Given the description of an element on the screen output the (x, y) to click on. 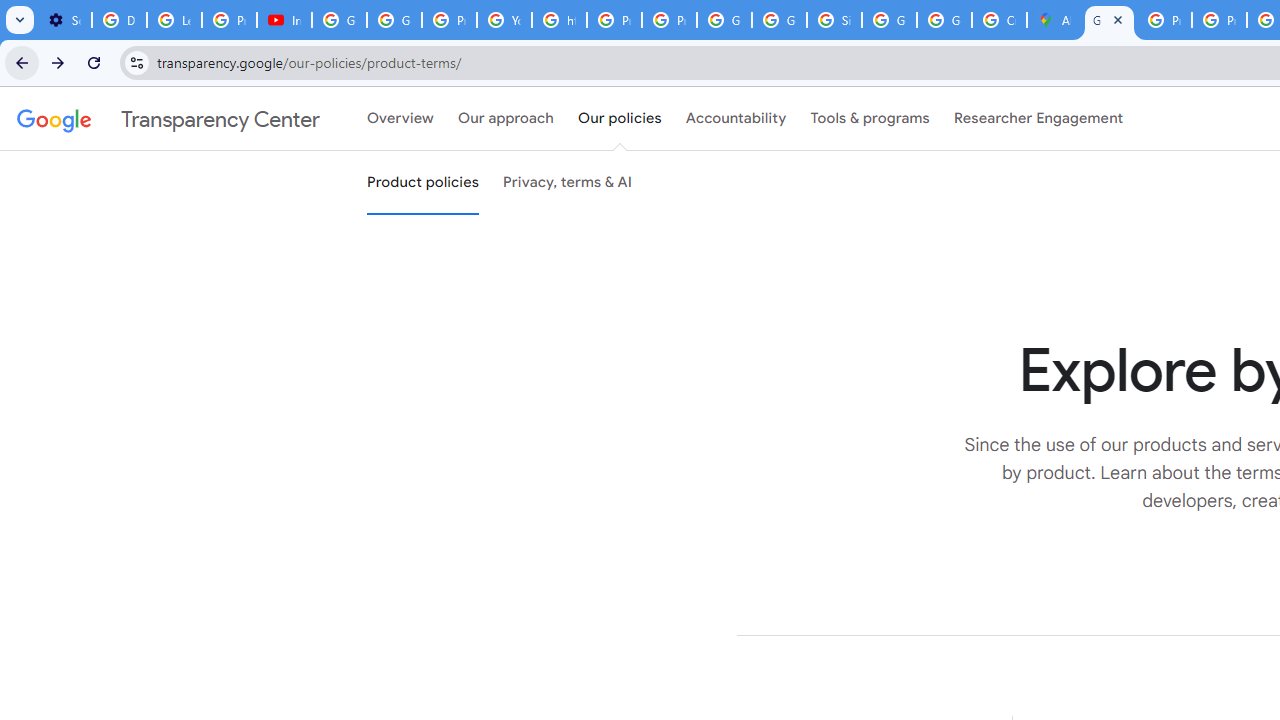
Transparency Center (167, 119)
https://scholar.google.com/ (559, 20)
Researcher Engagement (1038, 119)
Product policies (422, 183)
Settings - Performance (64, 20)
Learn how to find your photos - Google Photos Help (174, 20)
